Given the description of an element on the screen output the (x, y) to click on. 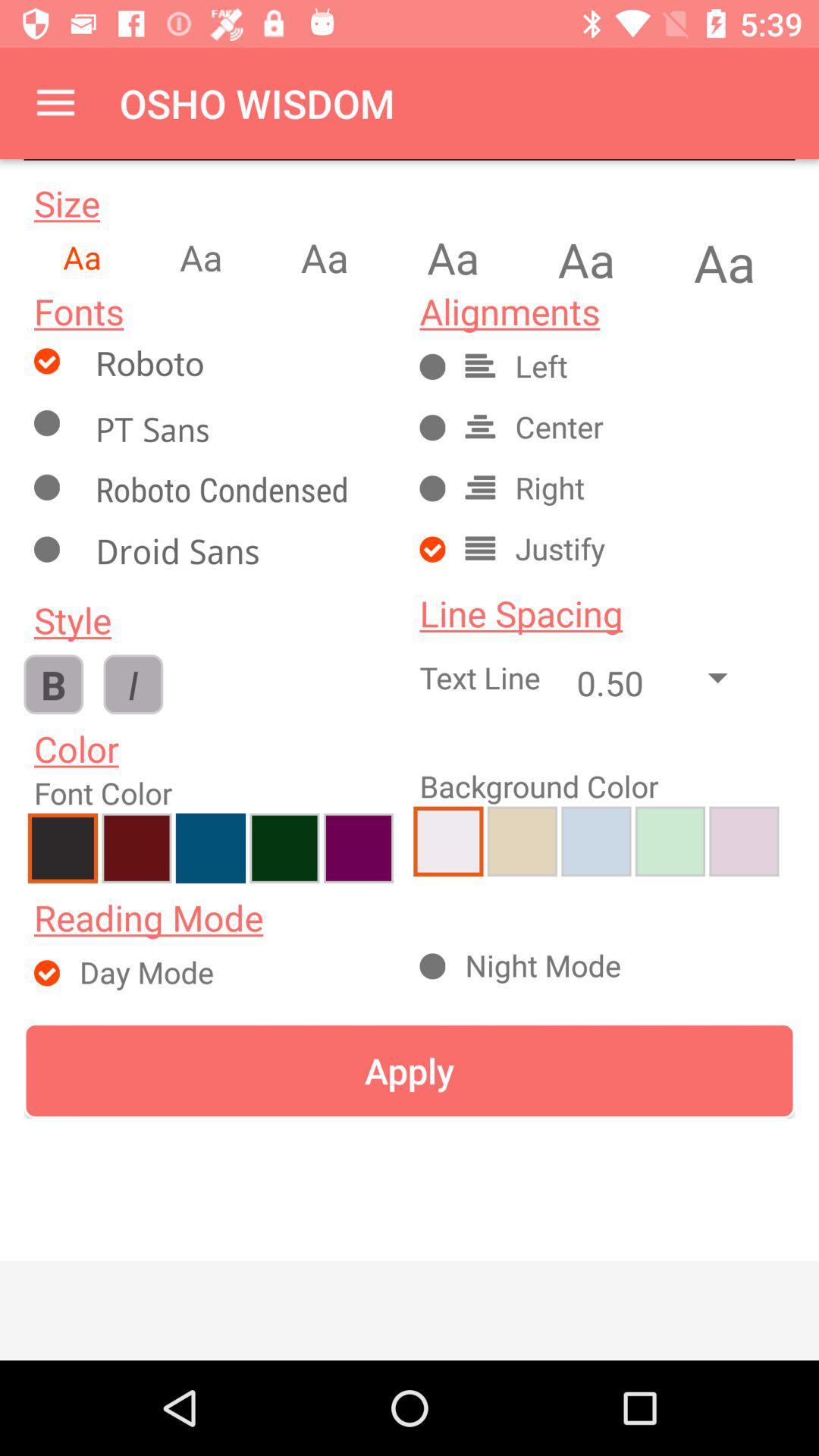
click the item to the left of osho wisdom (55, 103)
